Given the description of an element on the screen output the (x, y) to click on. 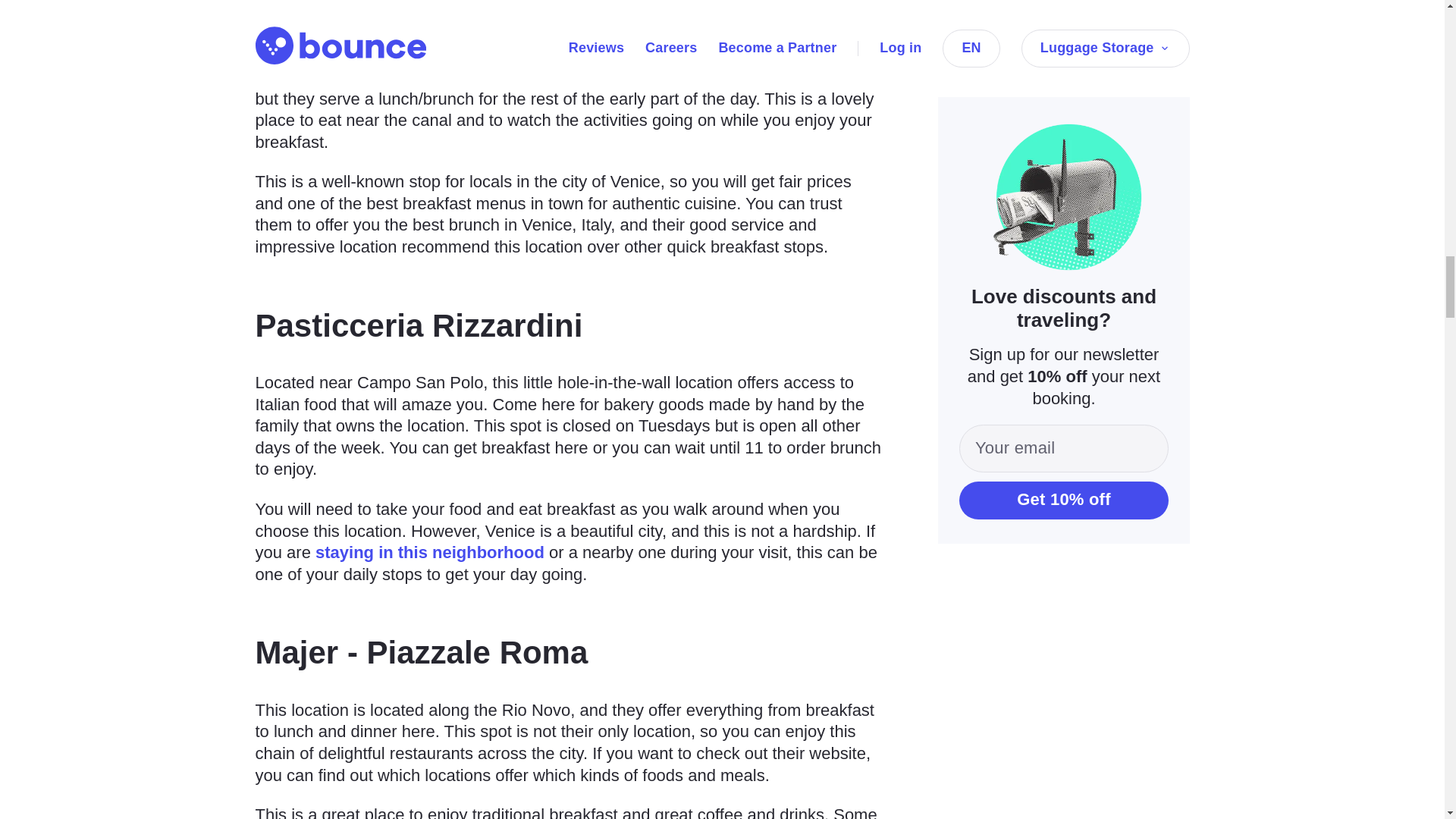
staying in this neighborhood (429, 551)
